Given the description of an element on the screen output the (x, y) to click on. 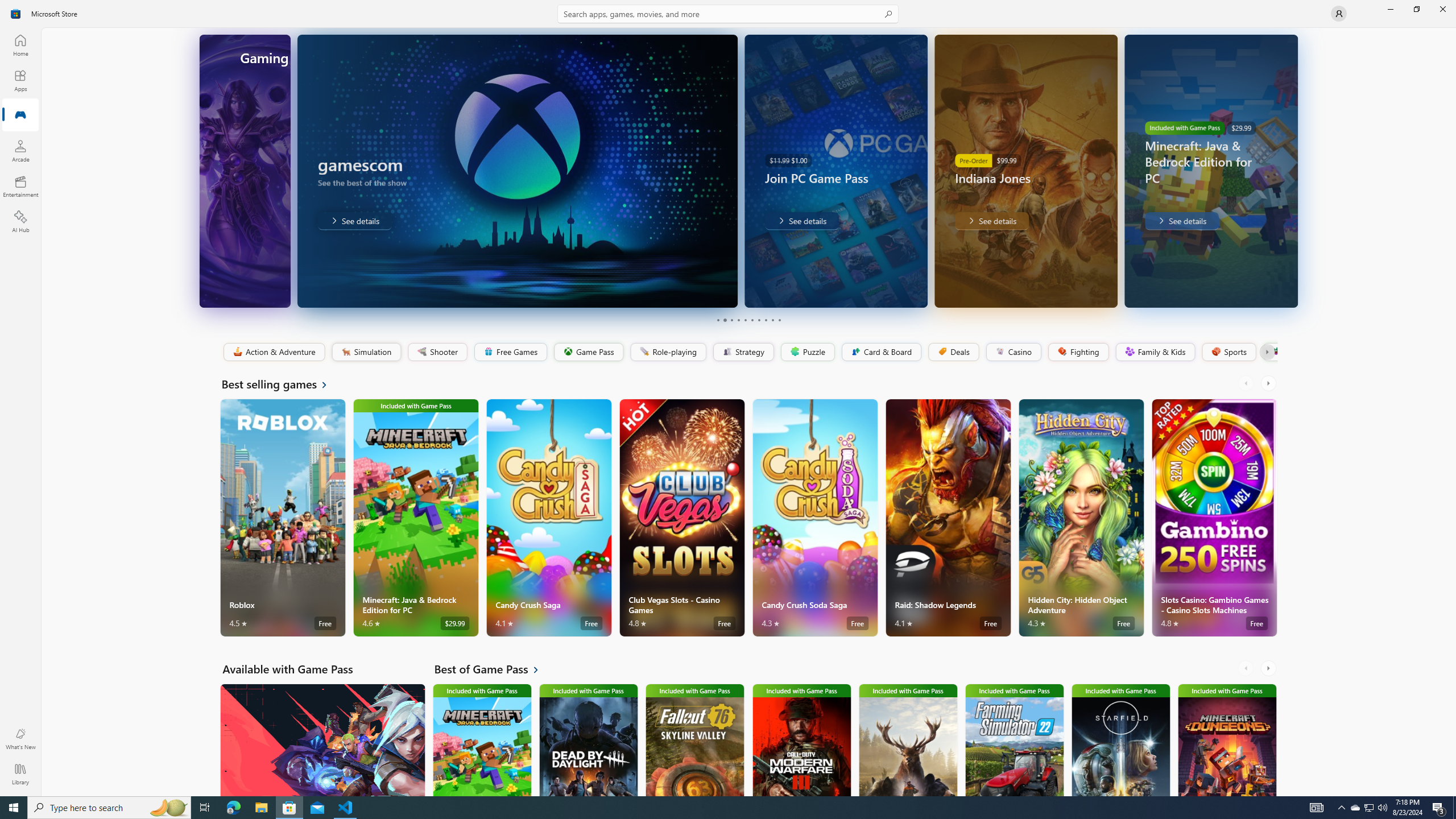
Page 10 (779, 319)
Page 9 (772, 319)
Puzzle (807, 352)
Minimize Microsoft Store (1390, 9)
Fighting (1078, 352)
